Given the description of an element on the screen output the (x, y) to click on. 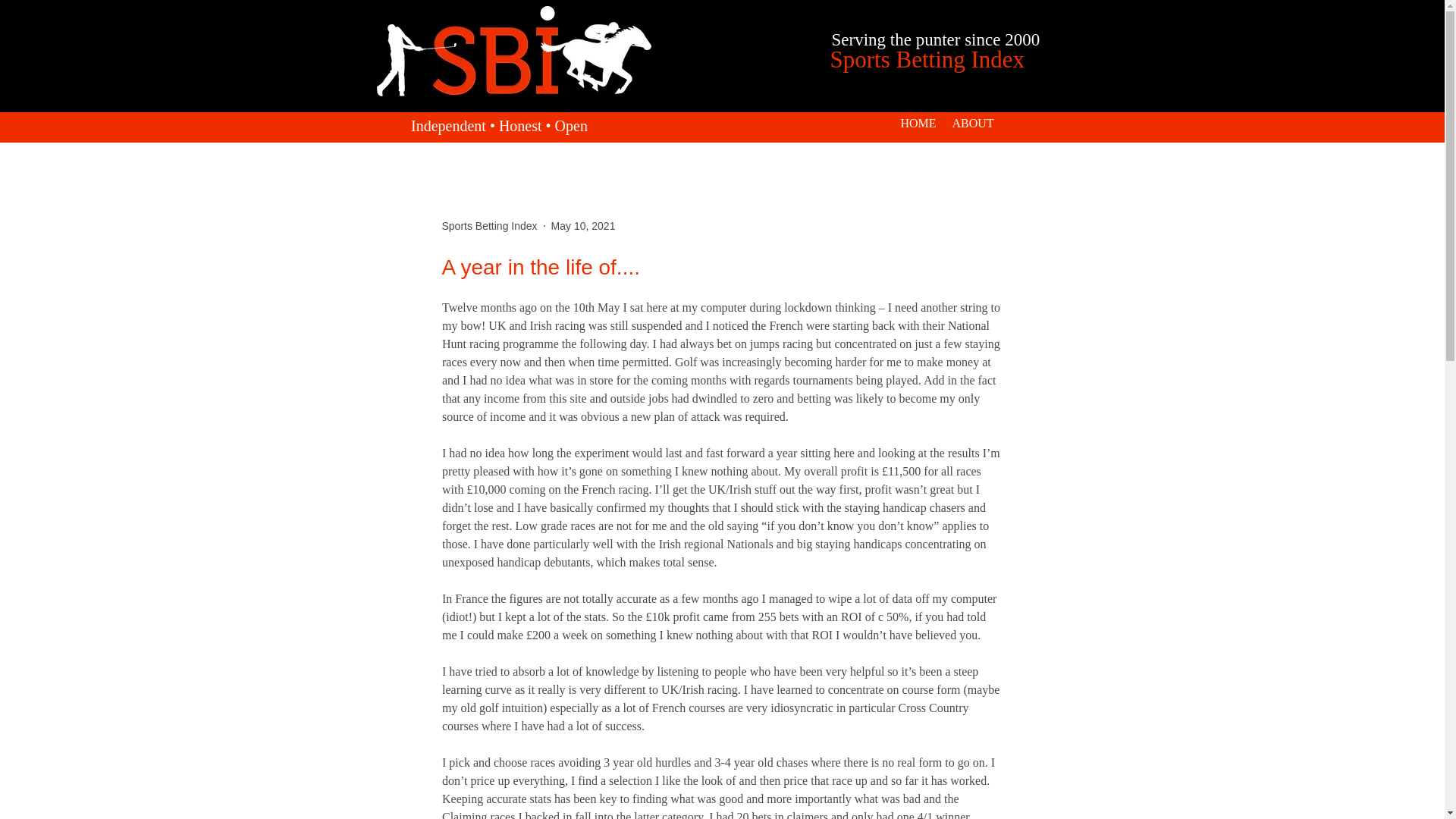
Sports Betting Index (489, 226)
HOME (918, 123)
ABOUT (973, 123)
May 10, 2021 (583, 225)
